Given the description of an element on the screen output the (x, y) to click on. 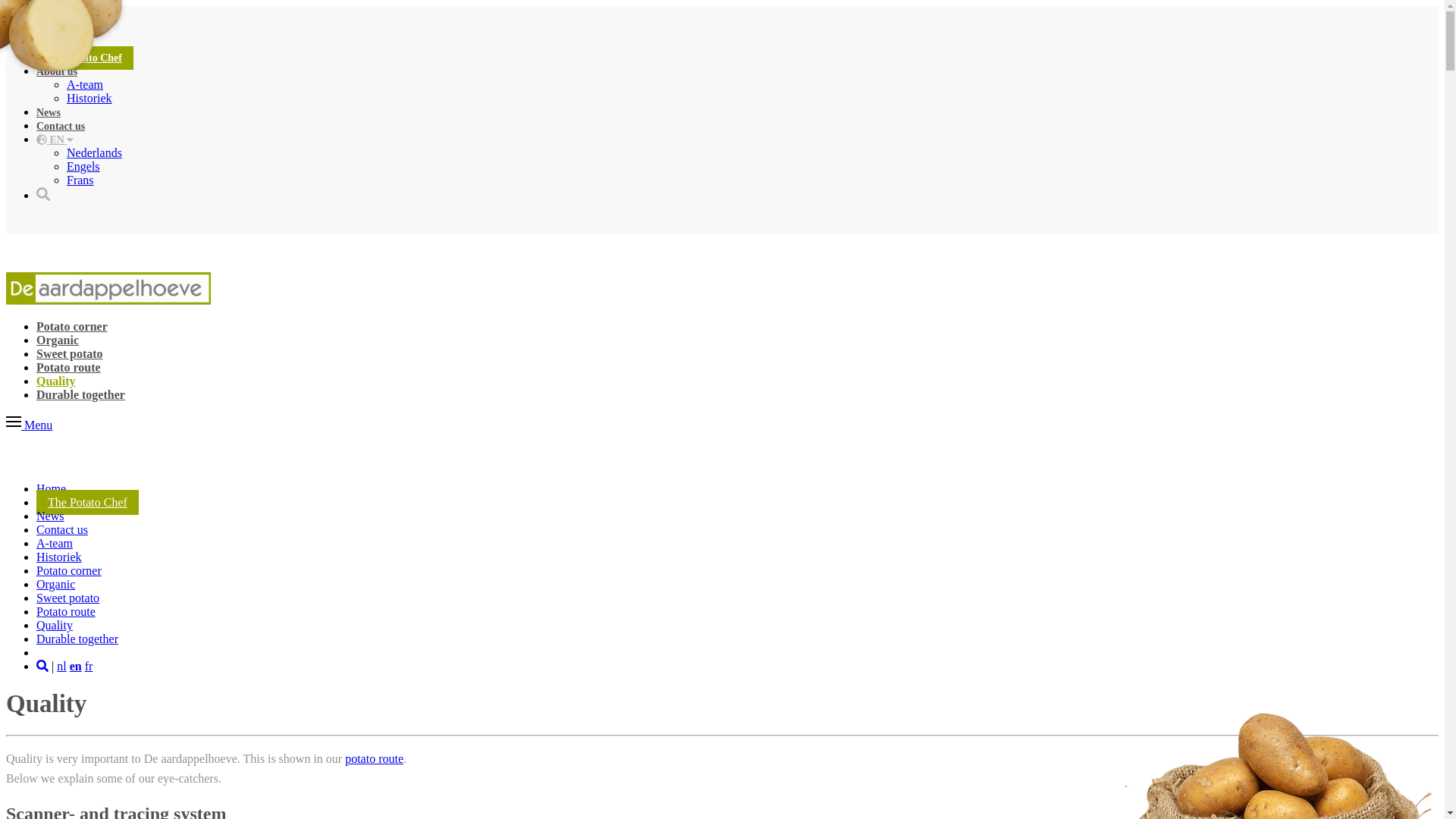
Nederlands Element type: text (94, 152)
Historiek Element type: text (89, 97)
fr Element type: text (88, 665)
The Potato Chef Element type: text (84, 57)
A-team Element type: text (54, 542)
nl Element type: text (60, 665)
Potato route Element type: text (65, 611)
Organic Element type: text (57, 339)
Sweet potato Element type: text (69, 353)
Contact us Element type: text (60, 125)
A-team Element type: text (84, 84)
Durable together Element type: text (77, 638)
EN Element type: text (54, 139)
Quality Element type: text (55, 380)
Contact us Element type: text (61, 529)
News Element type: text (49, 515)
Home Element type: text (49, 44)
About us Element type: text (56, 71)
Menu Element type: text (29, 424)
Quality Element type: text (54, 624)
Durable together Element type: text (80, 394)
Engels Element type: text (83, 166)
News Element type: text (48, 112)
Frans Element type: text (80, 179)
Potato corner Element type: text (71, 326)
Organic Element type: text (55, 583)
Sweet potato Element type: text (67, 597)
en Element type: text (75, 665)
Home Element type: text (50, 488)
Historiek Element type: text (58, 556)
The Potato Chef Element type: text (87, 501)
Potato corner Element type: text (68, 570)
Potato route Element type: text (68, 366)
potato route Element type: text (374, 758)
